Given the description of an element on the screen output the (x, y) to click on. 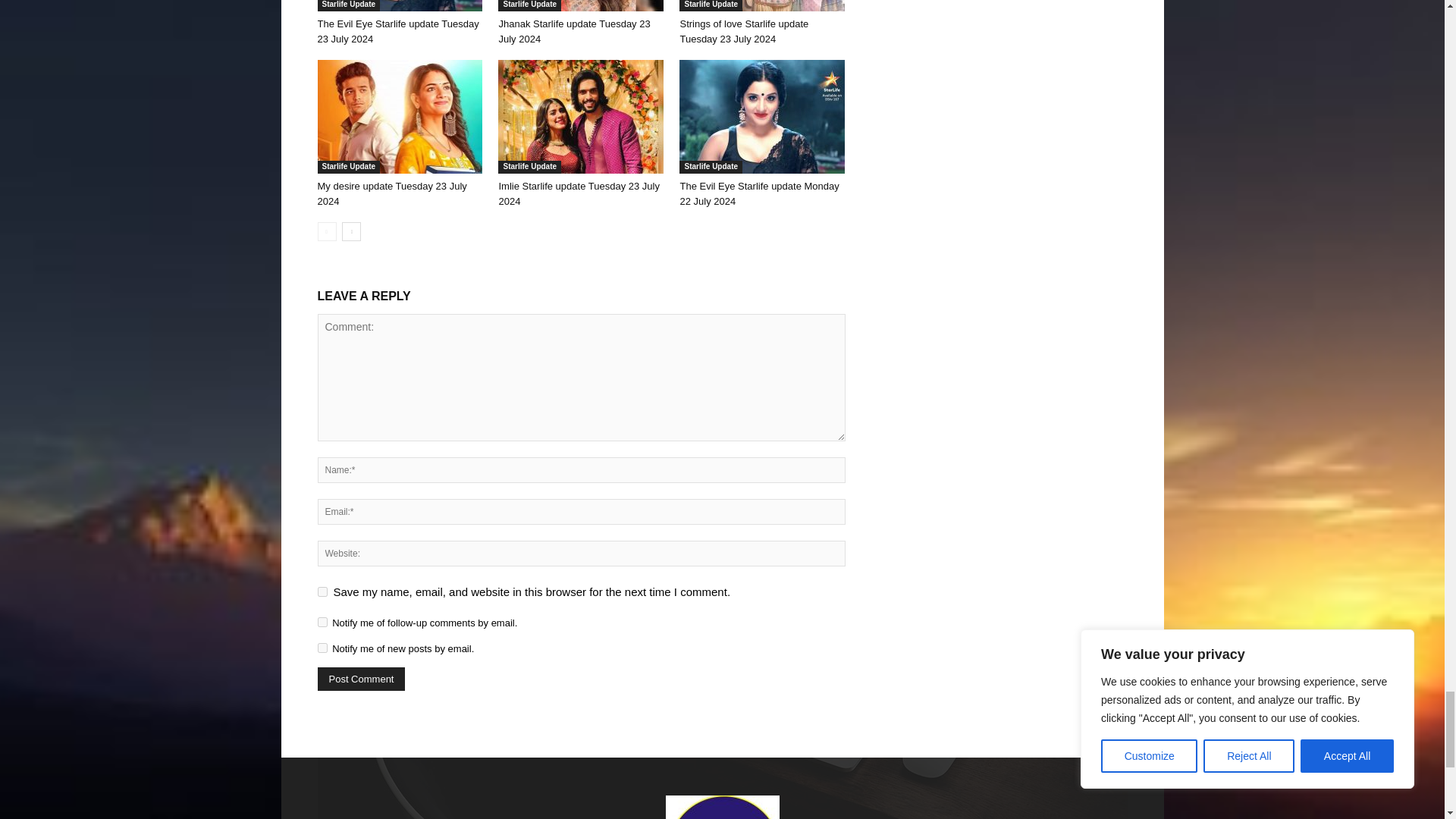
subscribe (321, 647)
Post Comment (360, 679)
yes (321, 592)
subscribe (321, 622)
